Given the description of an element on the screen output the (x, y) to click on. 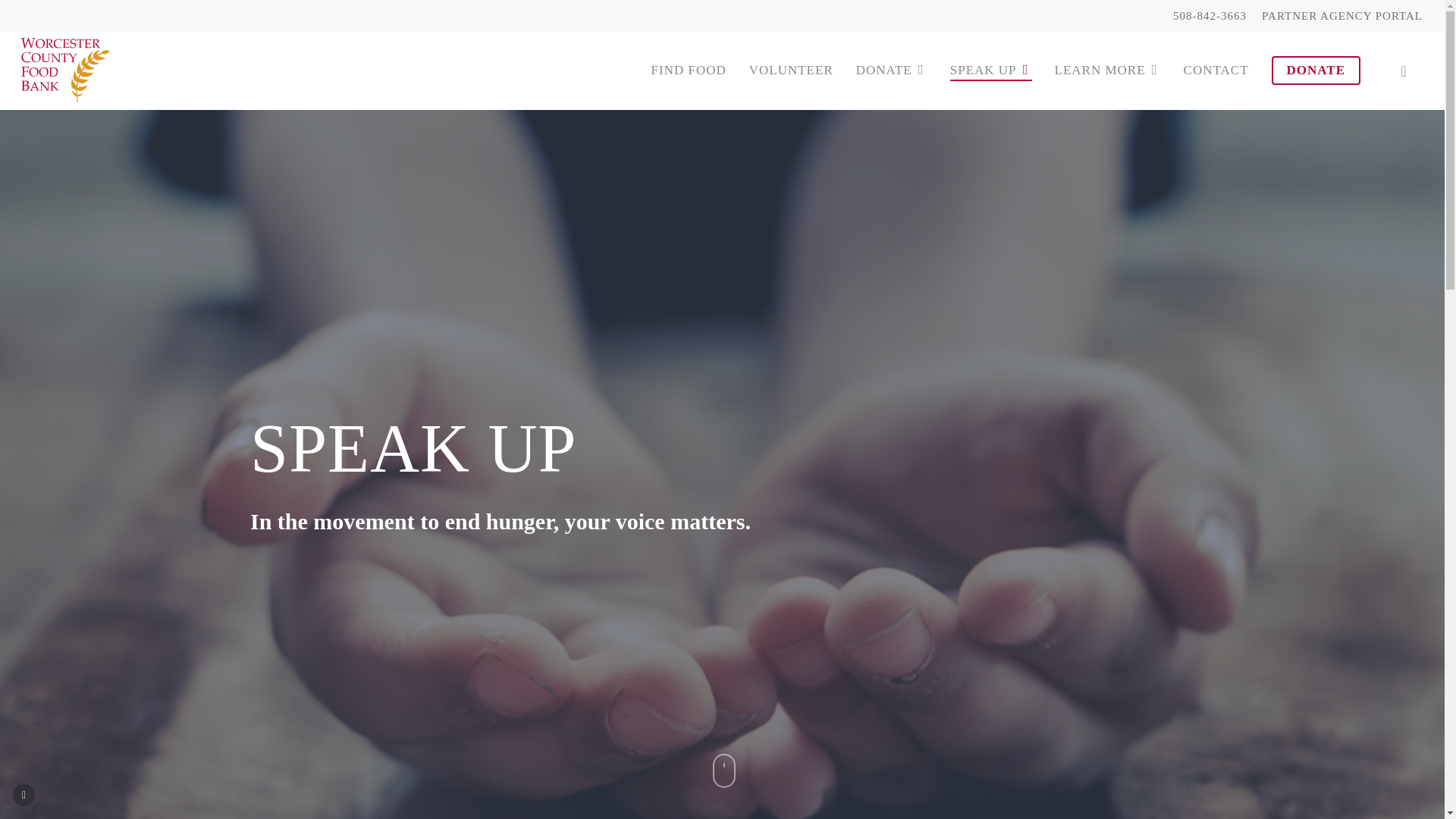
LEARN MORE (1107, 70)
CONTACT (1216, 70)
508-842-3663 (1209, 15)
SPEAK UP (991, 70)
DONATE (1315, 70)
PARTNER AGENCY PORTAL (1342, 15)
FIND FOOD (688, 70)
VOLUNTEER (790, 70)
DONATE (891, 70)
